Given the description of an element on the screen output the (x, y) to click on. 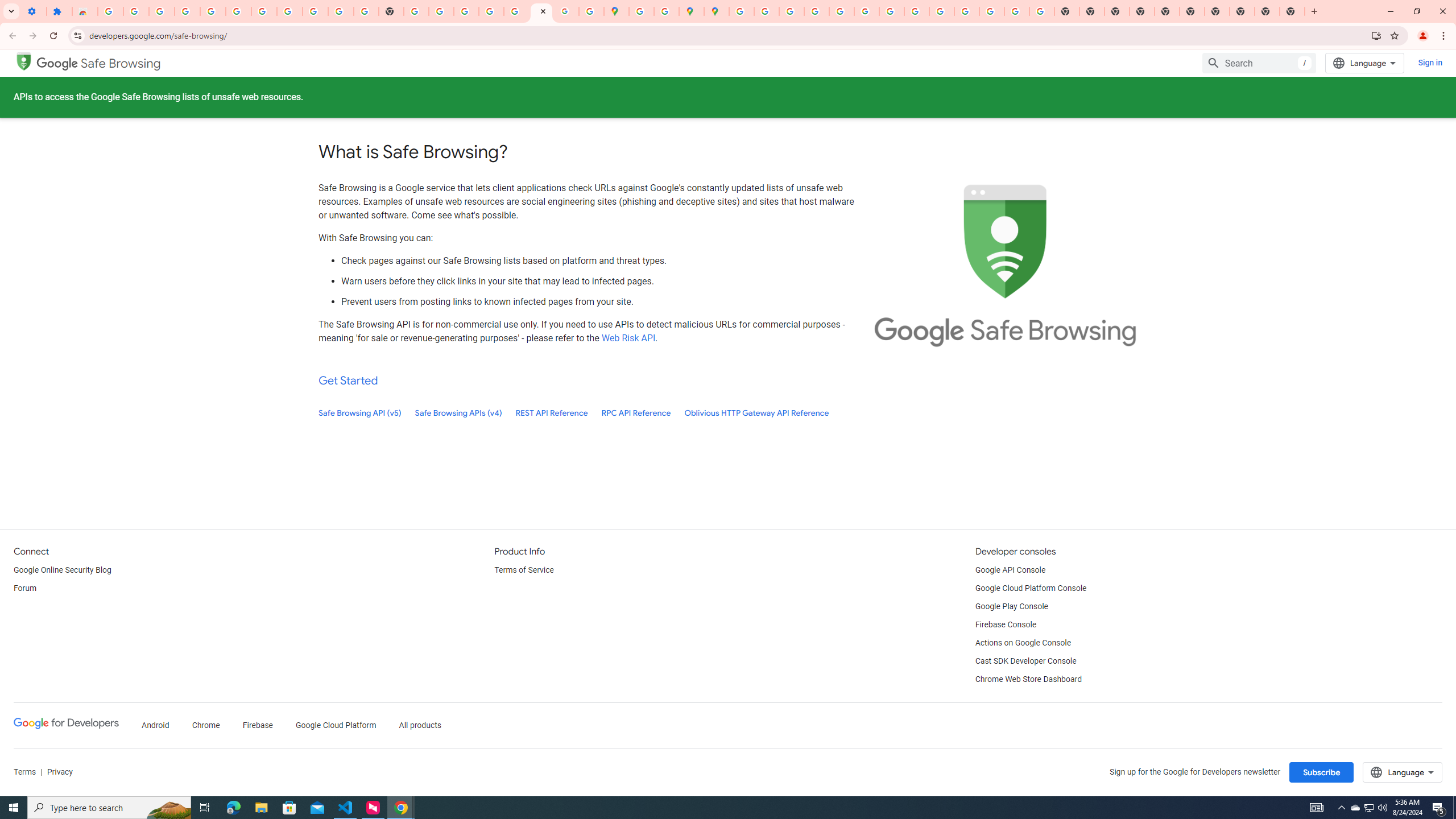
Language (1402, 772)
Firebase Console (1005, 624)
Settings - On startup (34, 11)
Google Cloud Platform (336, 725)
Google Safe Browsing (23, 60)
New Tab (1292, 11)
REST API Reference (551, 412)
Android (154, 725)
